Given the description of an element on the screen output the (x, y) to click on. 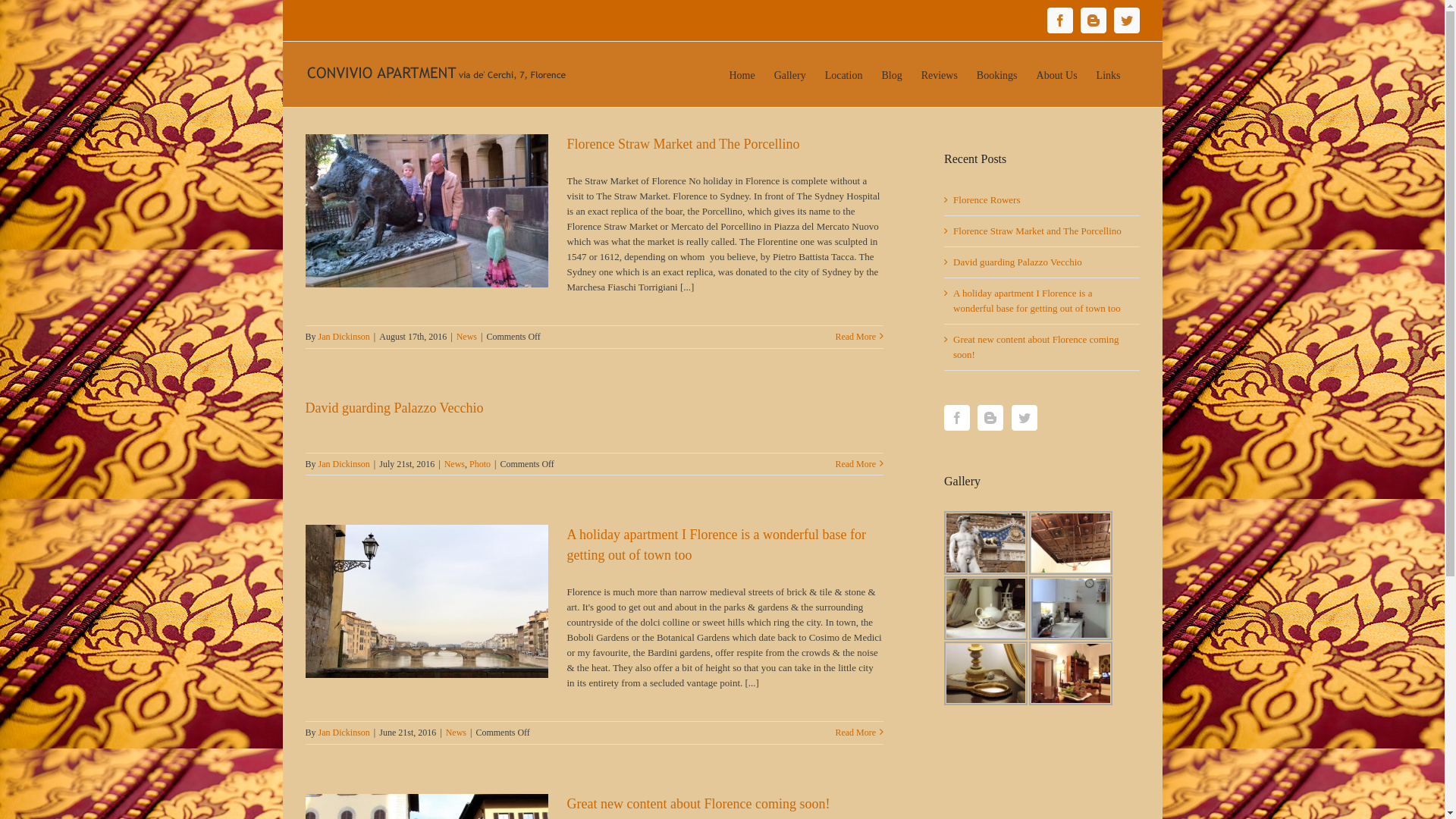
Links Element type: text (1108, 73)
Bookings Element type: text (996, 73)
Bedroom Element type: hover (985, 673)
Read More Element type: text (854, 732)
Reviews Element type: text (939, 73)
About Us Element type: text (1056, 73)
News Element type: text (454, 463)
Twitter Element type: text (1126, 20)
Jan Dickinson Element type: text (344, 336)
David guarding Palazzo Vecchio Element type: hover (985, 542)
Florence Rowers Element type: text (986, 199)
Convivio2a Element type: hover (1070, 673)
Afternoon tea Element type: hover (985, 608)
David guarding Palazzo Vecchio Element type: text (393, 407)
Blog Element type: text (891, 73)
News Element type: text (455, 732)
Gallery Element type: text (790, 73)
Great new content about Florence coming soon! Element type: text (698, 803)
Florence Straw Market and The Porcellino Element type: text (1037, 230)
Facebook Element type: text (1059, 20)
News Element type: text (466, 336)
Home Element type: text (741, 73)
Location Element type: text (843, 73)
David guarding Palazzo Vecchio Element type: text (1017, 261)
Photo Element type: text (479, 463)
Great new content about Florence coming soon! Element type: text (1035, 346)
Read More Element type: text (854, 336)
Kitchen With great stove & oven, dishwasher, double sink Element type: hover (1070, 608)
Florence Straw Market and The Porcellino Element type: text (683, 143)
The ceiling is hundreds of years old Element type: hover (1070, 542)
Blogger Element type: text (1092, 20)
Jan Dickinson Element type: text (344, 732)
Read More Element type: text (854, 463)
Jan Dickinson Element type: text (344, 463)
